Given the description of an element on the screen output the (x, y) to click on. 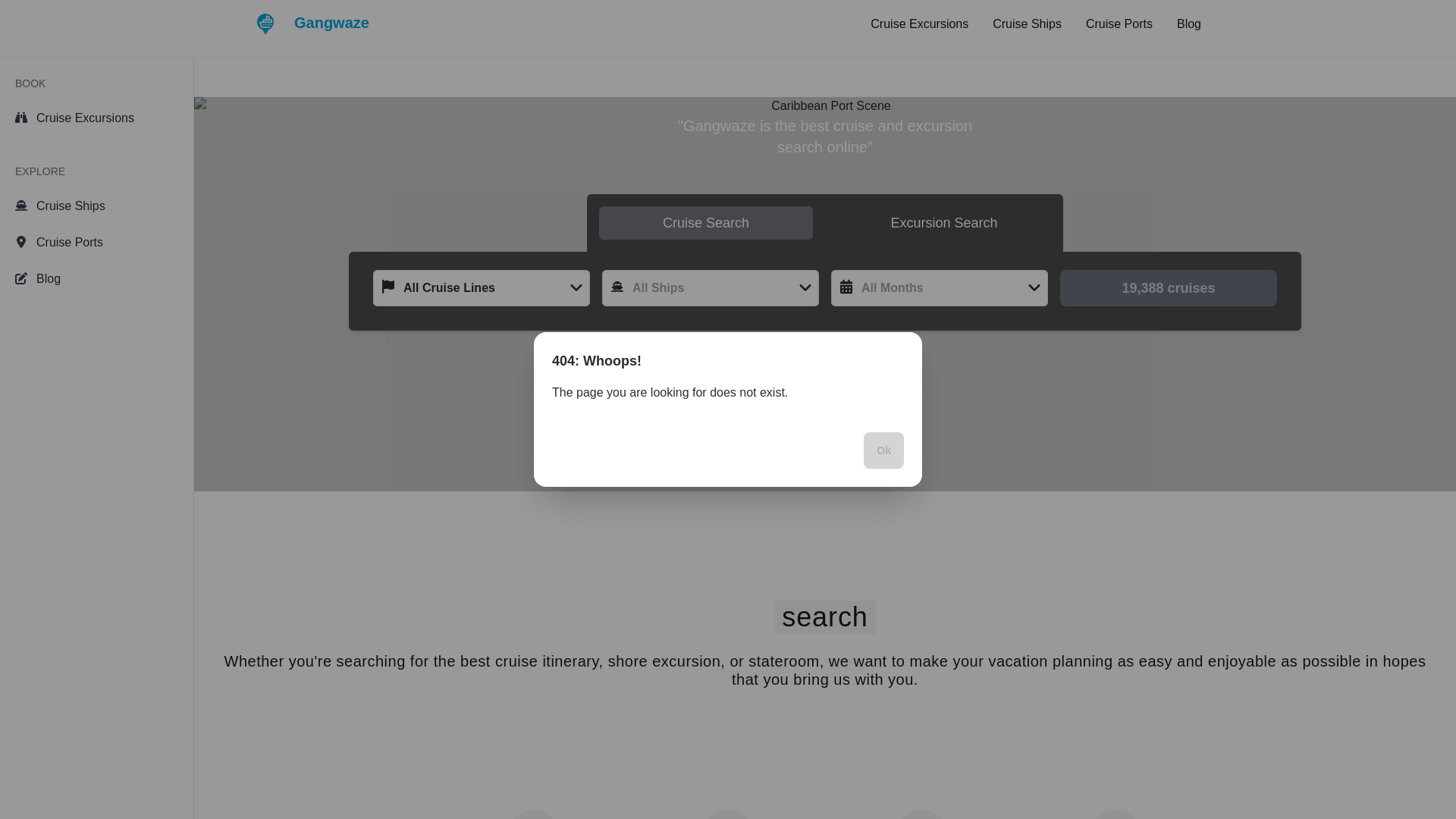
Blog (1188, 24)
All Months (939, 288)
19,388 cruises (1167, 288)
Cruise Excursions (919, 24)
Cruise Search (705, 222)
Cruise Ships (1026, 24)
Cruise Ports (1119, 24)
Cruise Excursions (96, 118)
Gangwaze (311, 24)
Cruise Ships (96, 205)
All Ships (710, 288)
Cruise Ports (96, 242)
Excursion Search (944, 222)
Blog (96, 278)
All Cruise Lines (480, 288)
